Given the description of an element on the screen output the (x, y) to click on. 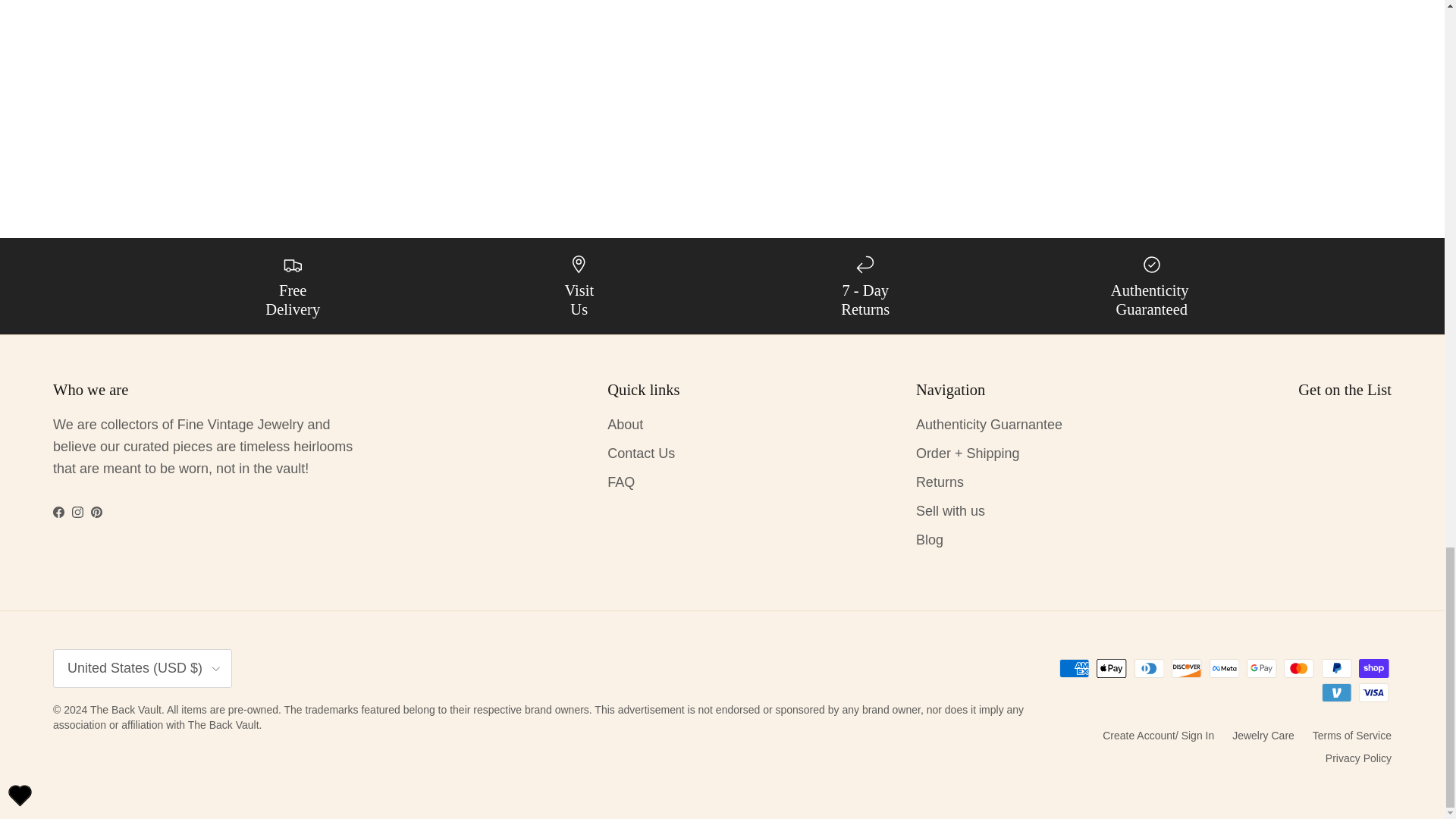
Apple Pay (1111, 668)
The Back Vault on Instagram (76, 511)
The Back Vault on Pinterest (95, 511)
Discover (1186, 668)
The Back Vault on Facebook (58, 511)
American Express (1074, 668)
Diners Club (1149, 668)
